Given the description of an element on the screen output the (x, y) to click on. 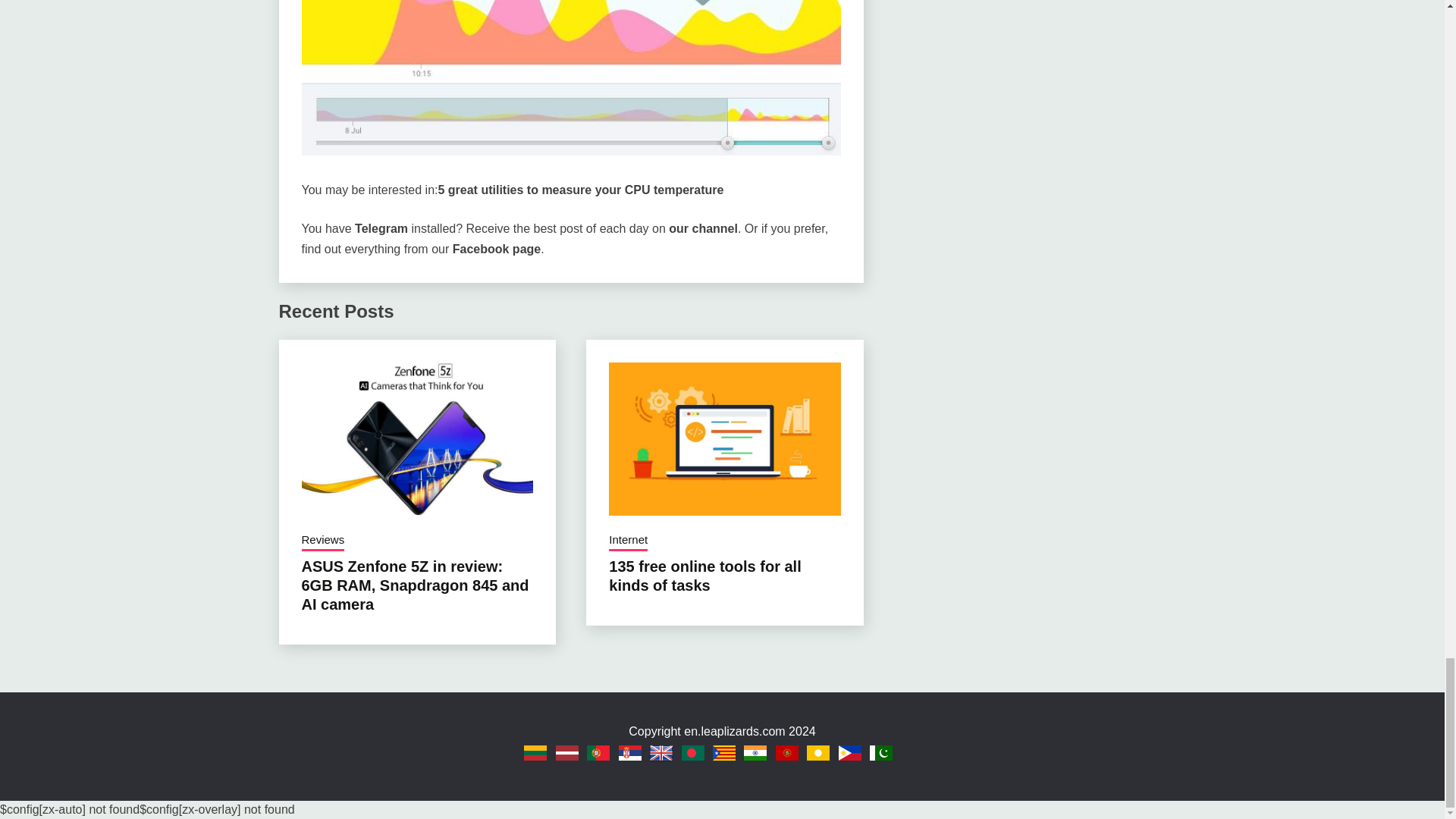
135 free online tools for all kinds of tasks (704, 575)
Reviews (323, 541)
Internet (627, 541)
